Given the description of an element on the screen output the (x, y) to click on. 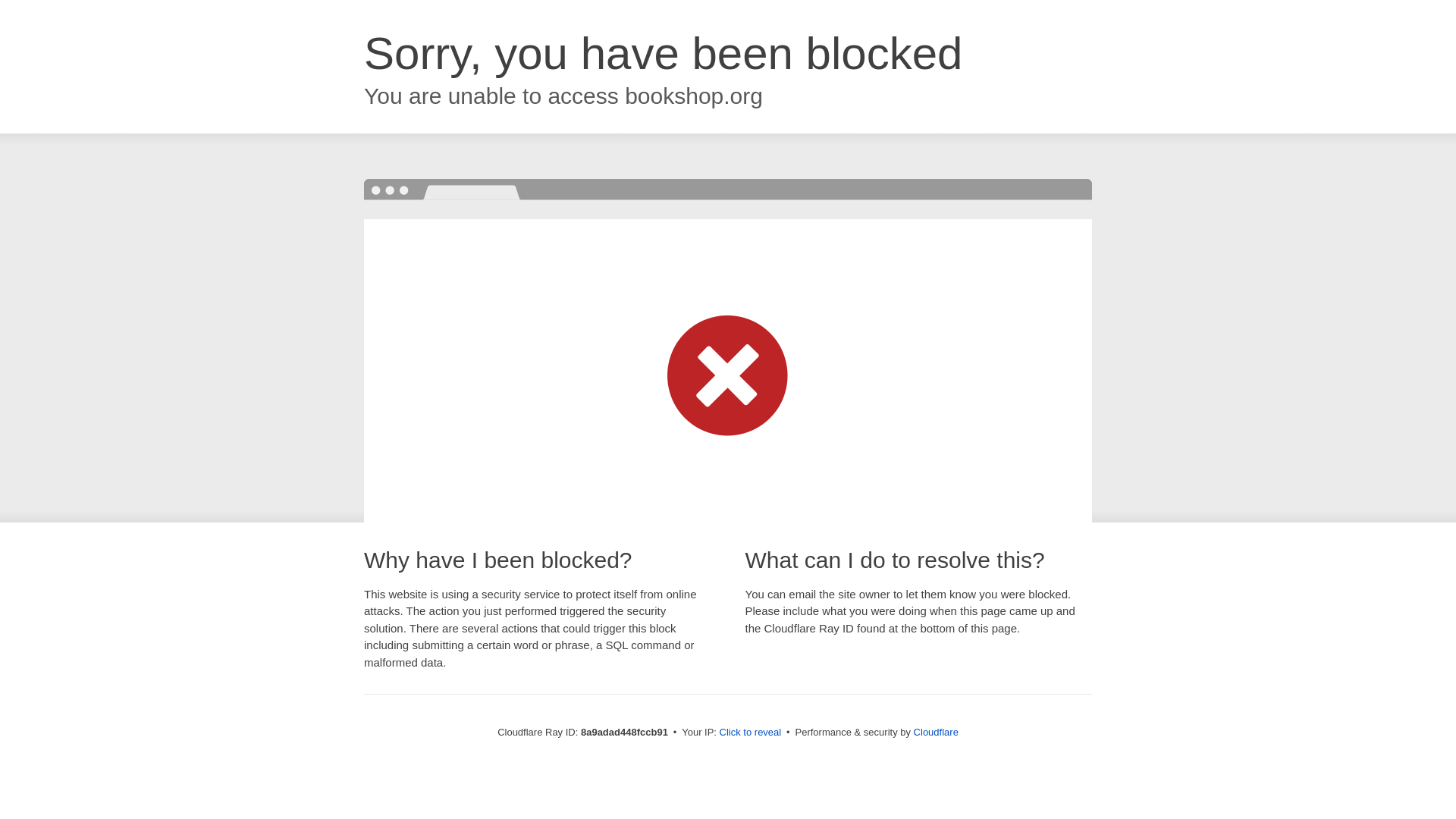
Click to reveal (750, 732)
Cloudflare (936, 731)
